Given the description of an element on the screen output the (x, y) to click on. 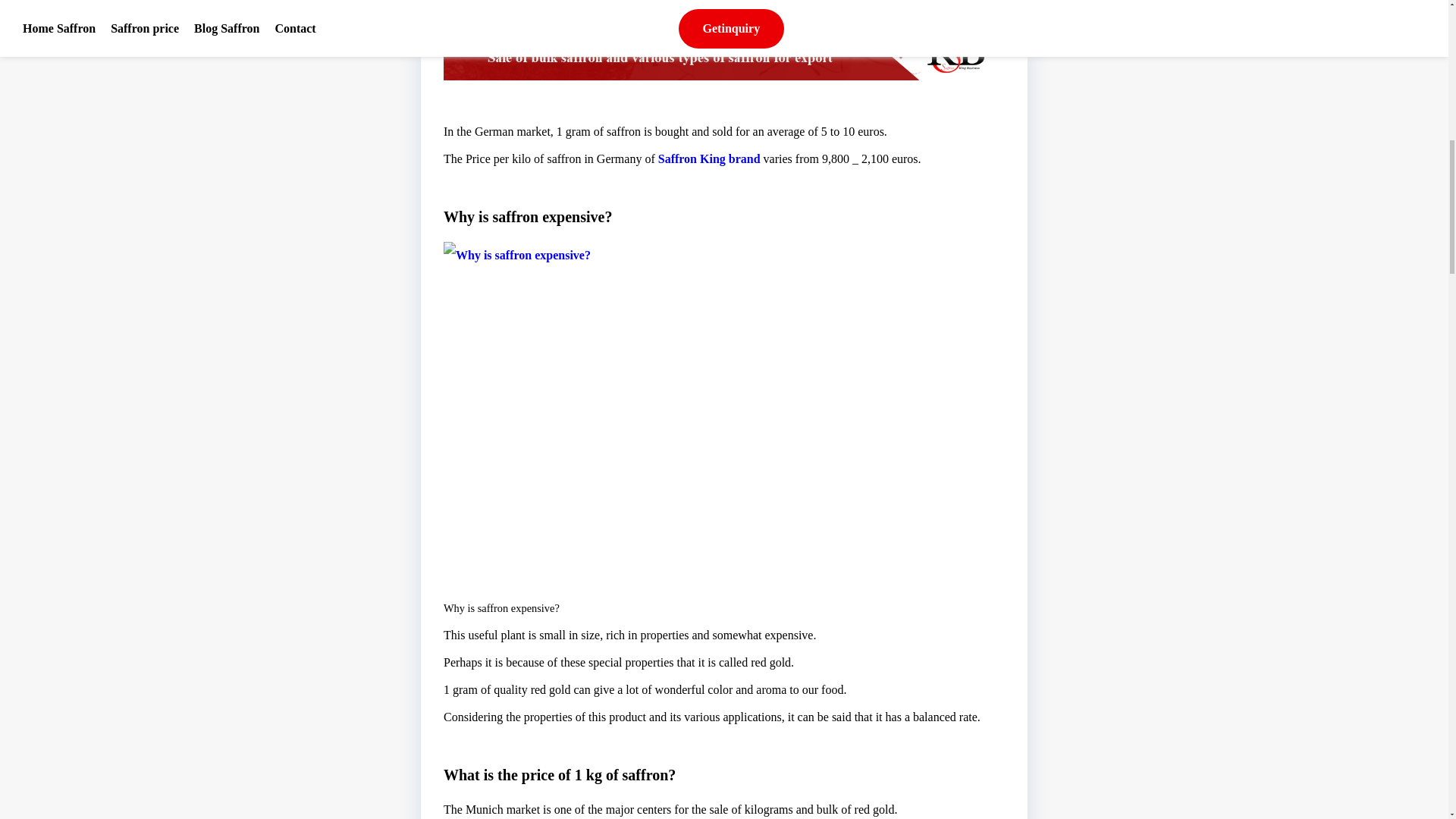
Saffron King brand (709, 157)
